Given the description of an element on the screen output the (x, y) to click on. 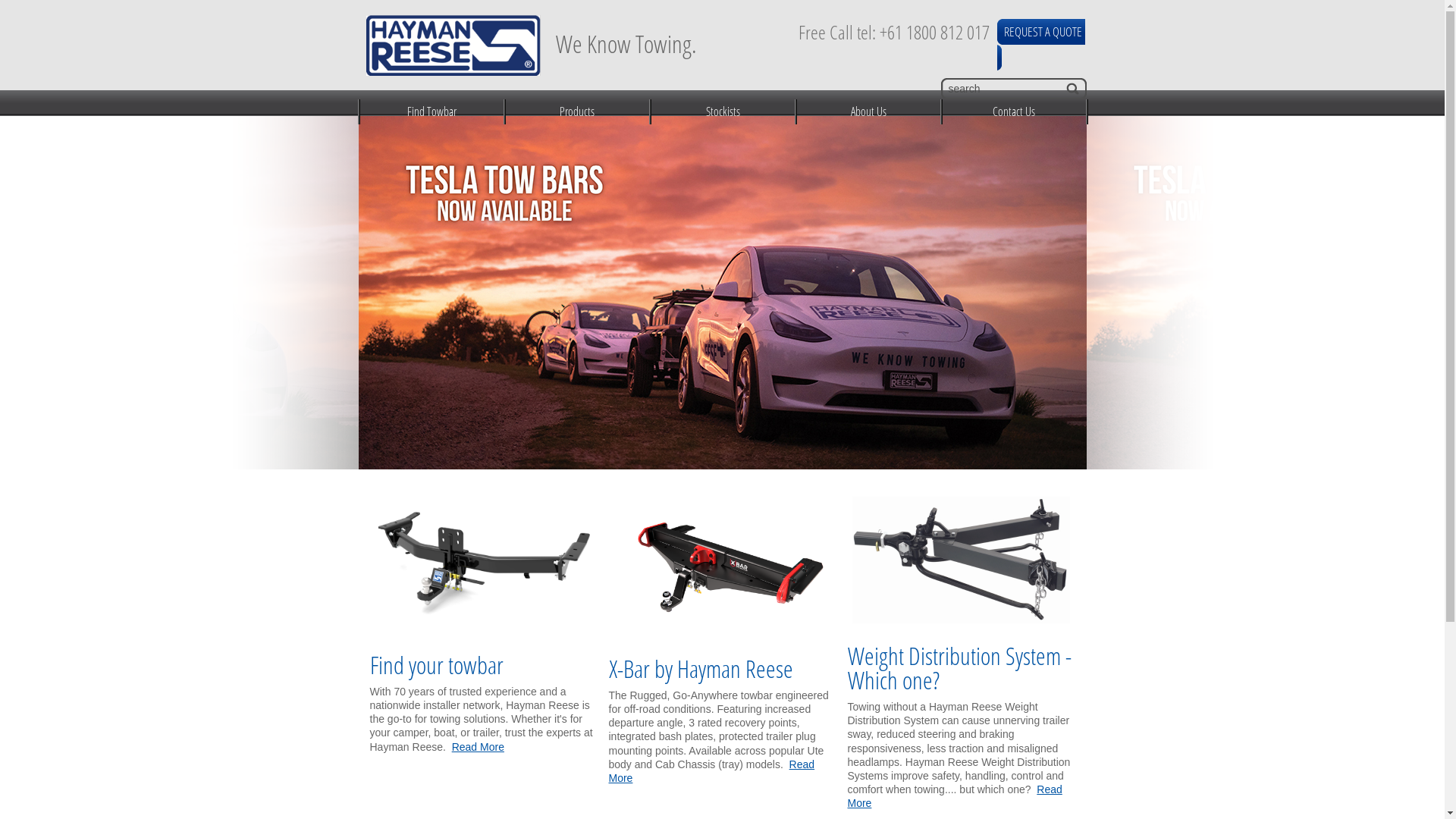
REQUEST A QUOTE Element type: text (1043, 31)
Products Element type: text (576, 111)
We Know Towing. Element type: text (562, 41)
Read More Element type: text (477, 746)
Stockists Element type: text (721, 111)
Read More Element type: text (711, 771)
Free Call tel: +61 1800 812 017 Element type: text (892, 31)
About Us Element type: text (867, 111)
Read More Element type: text (954, 796)
Contact Us Element type: text (1013, 111)
Find Towbar Element type: text (430, 111)
